Given the description of an element on the screen output the (x, y) to click on. 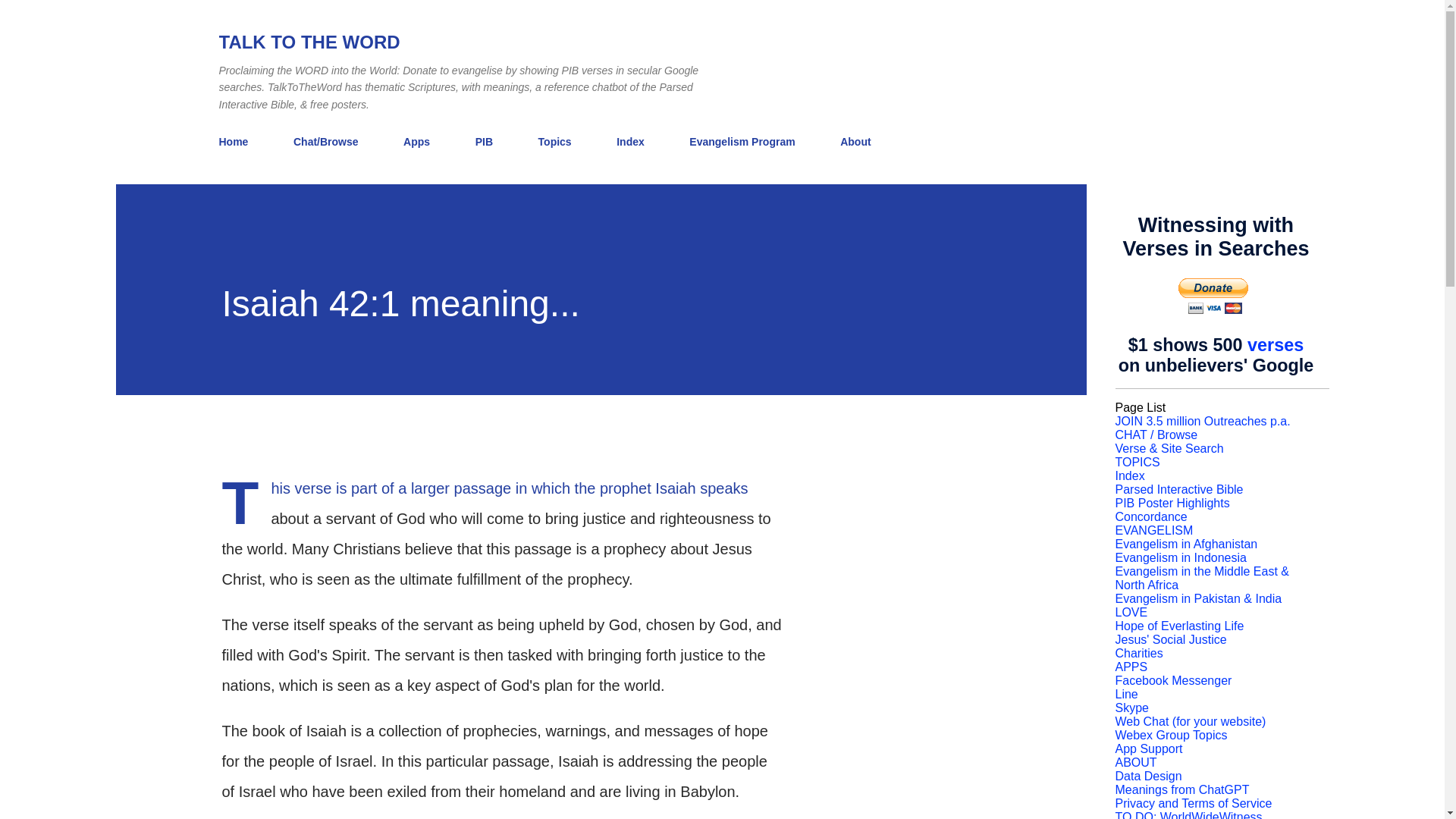
TALK TO THE WORD (308, 41)
Home (237, 141)
EVANGELISM (1153, 530)
Evangelism Program (741, 141)
verses (1275, 344)
JOIN 3.5 million Outreaches p.a. (1202, 420)
Parsed Interactive Bible (1179, 489)
Apps (416, 141)
PIB Poster Highlights (1171, 502)
Topics (554, 141)
